Given the description of an element on the screen output the (x, y) to click on. 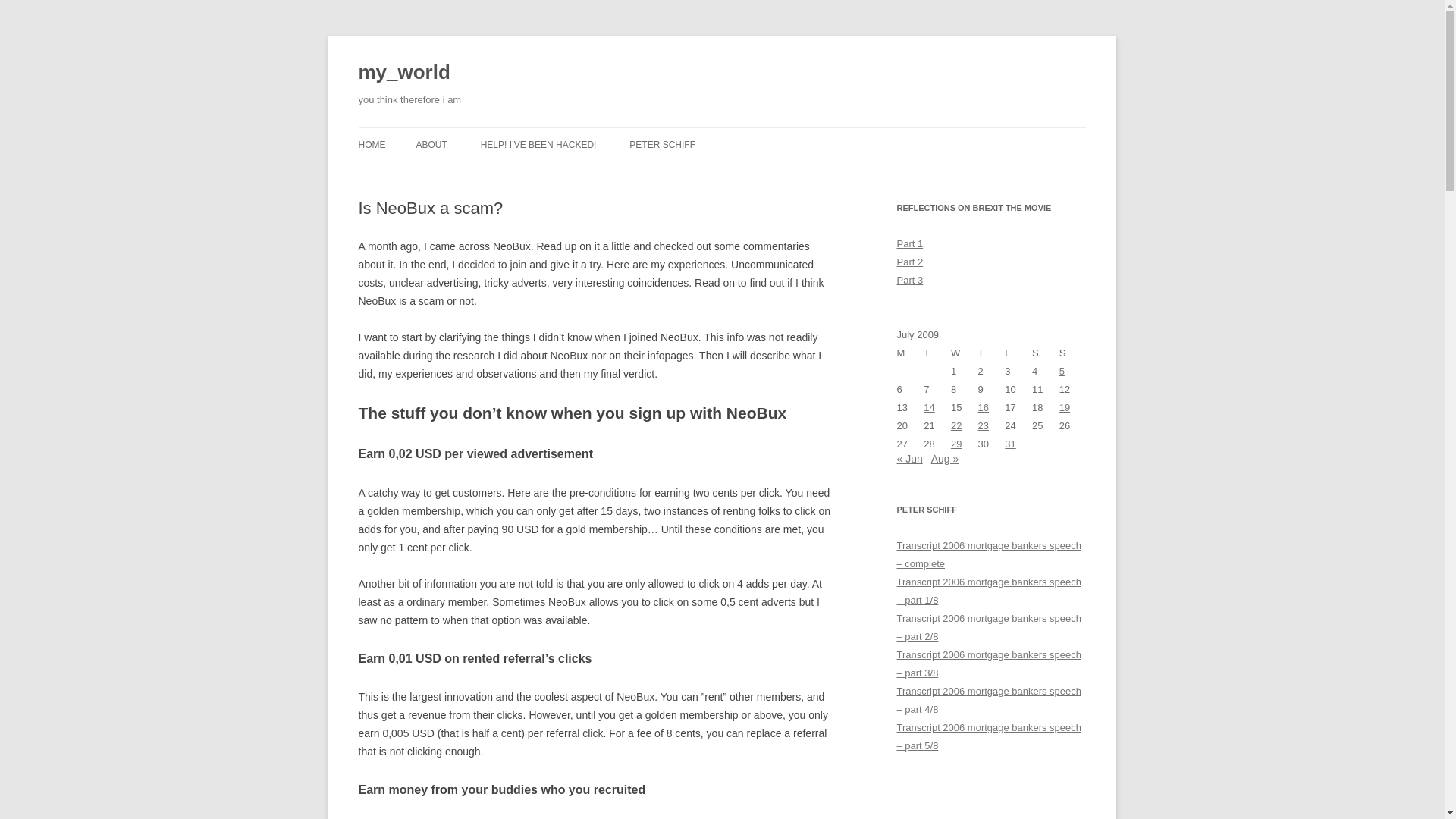
Tuesday (936, 352)
PETER SCHIFF (661, 144)
ASSESS THE DAMAGE (555, 176)
ABOUT (430, 144)
Monday (909, 352)
Saturday (1045, 352)
Thursday (992, 352)
Wednesday (964, 352)
Friday (1018, 352)
